Given the description of an element on the screen output the (x, y) to click on. 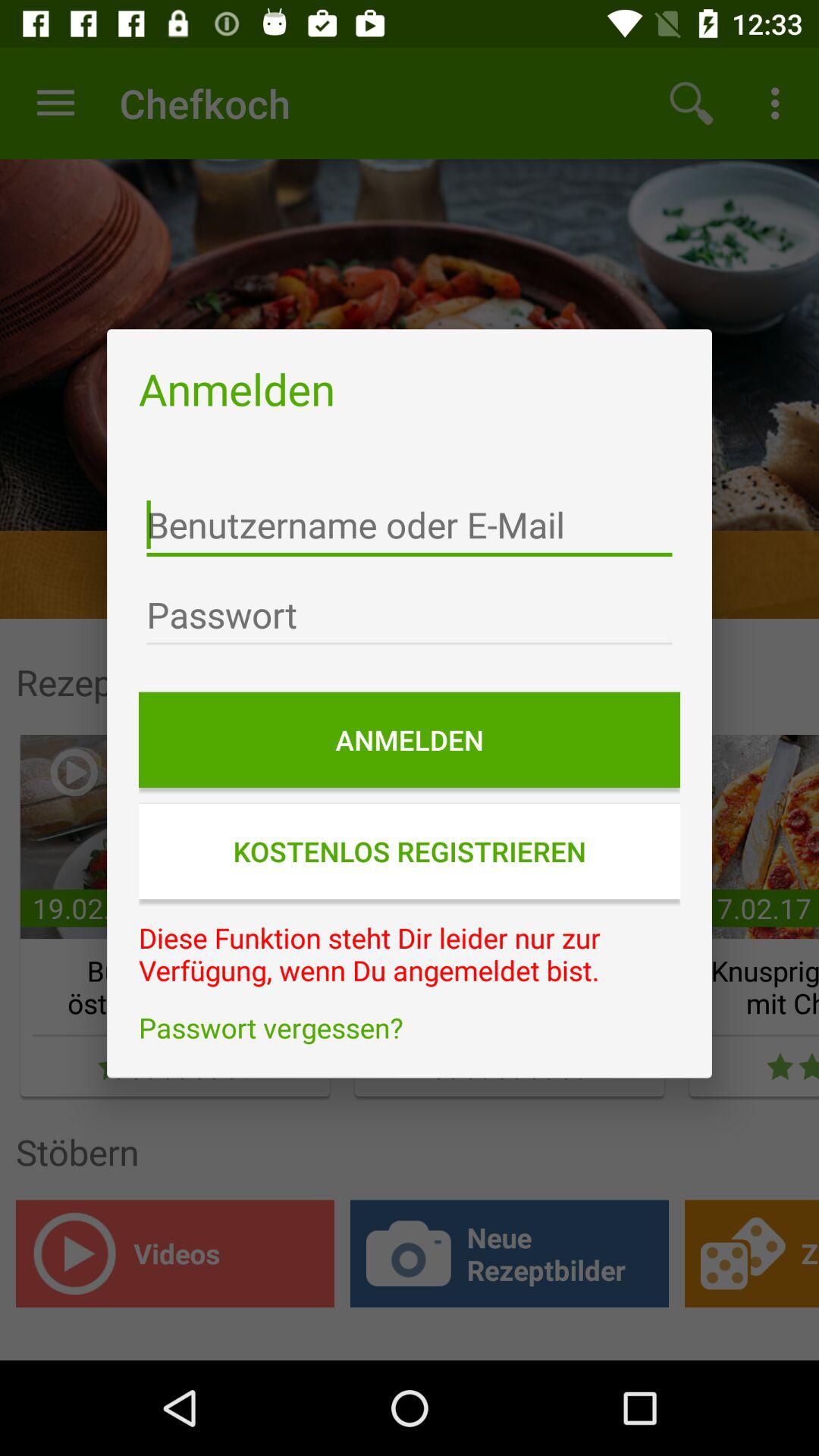
click to type password (409, 615)
